Given the description of an element on the screen output the (x, y) to click on. 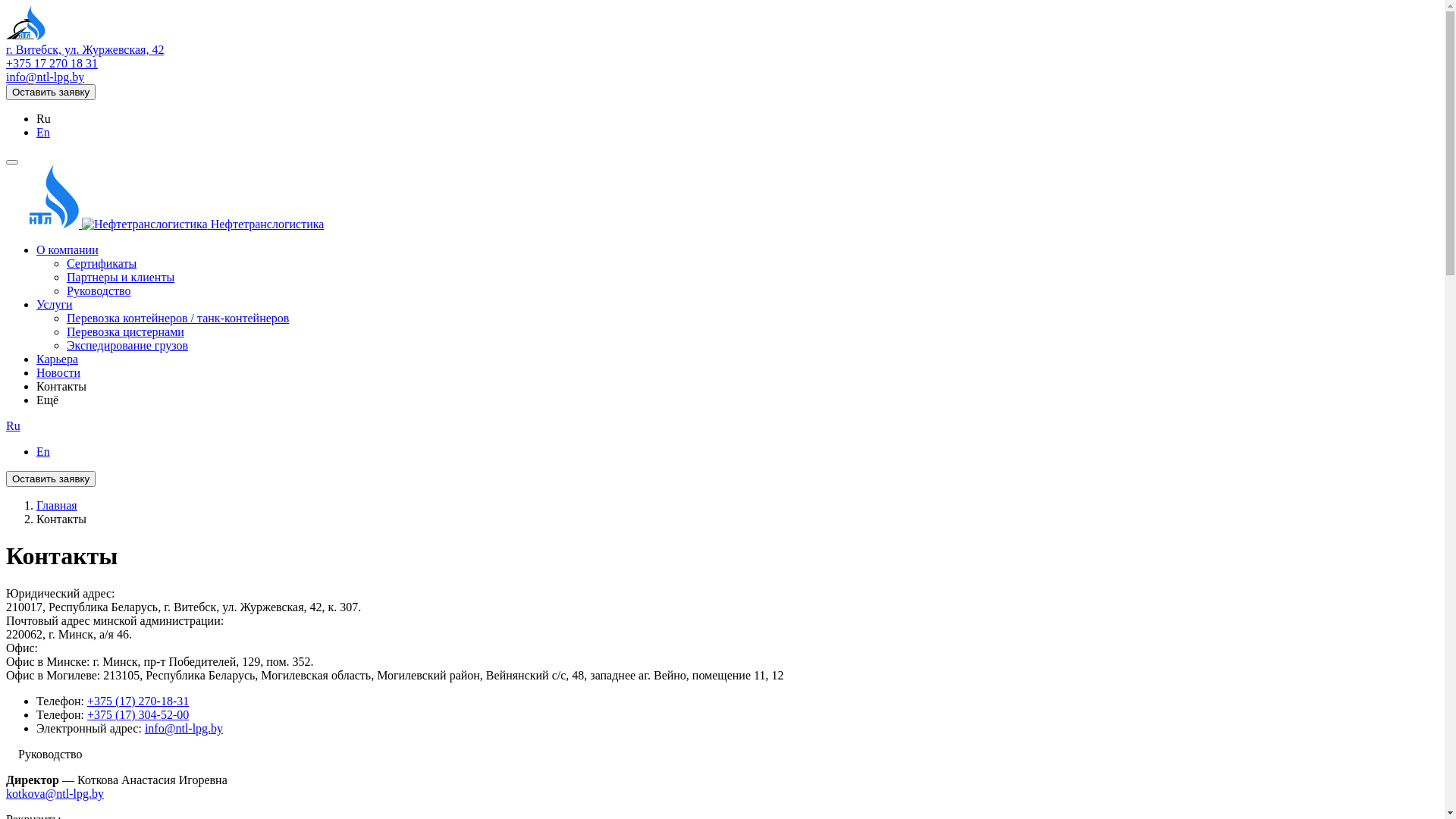
+375 (17) 304-52-00 Element type: text (137, 714)
+375 17 270 18 31 Element type: text (51, 62)
info@ntl-lpg.by Element type: text (45, 76)
info@ntl-lpg.by Element type: text (183, 727)
En Element type: text (43, 131)
+375 (17) 270-18-31 Element type: text (137, 700)
Ru Element type: text (13, 425)
kotkova@ntl-lpg.by Element type: text (54, 793)
En Element type: text (43, 451)
